Given the description of an element on the screen output the (x, y) to click on. 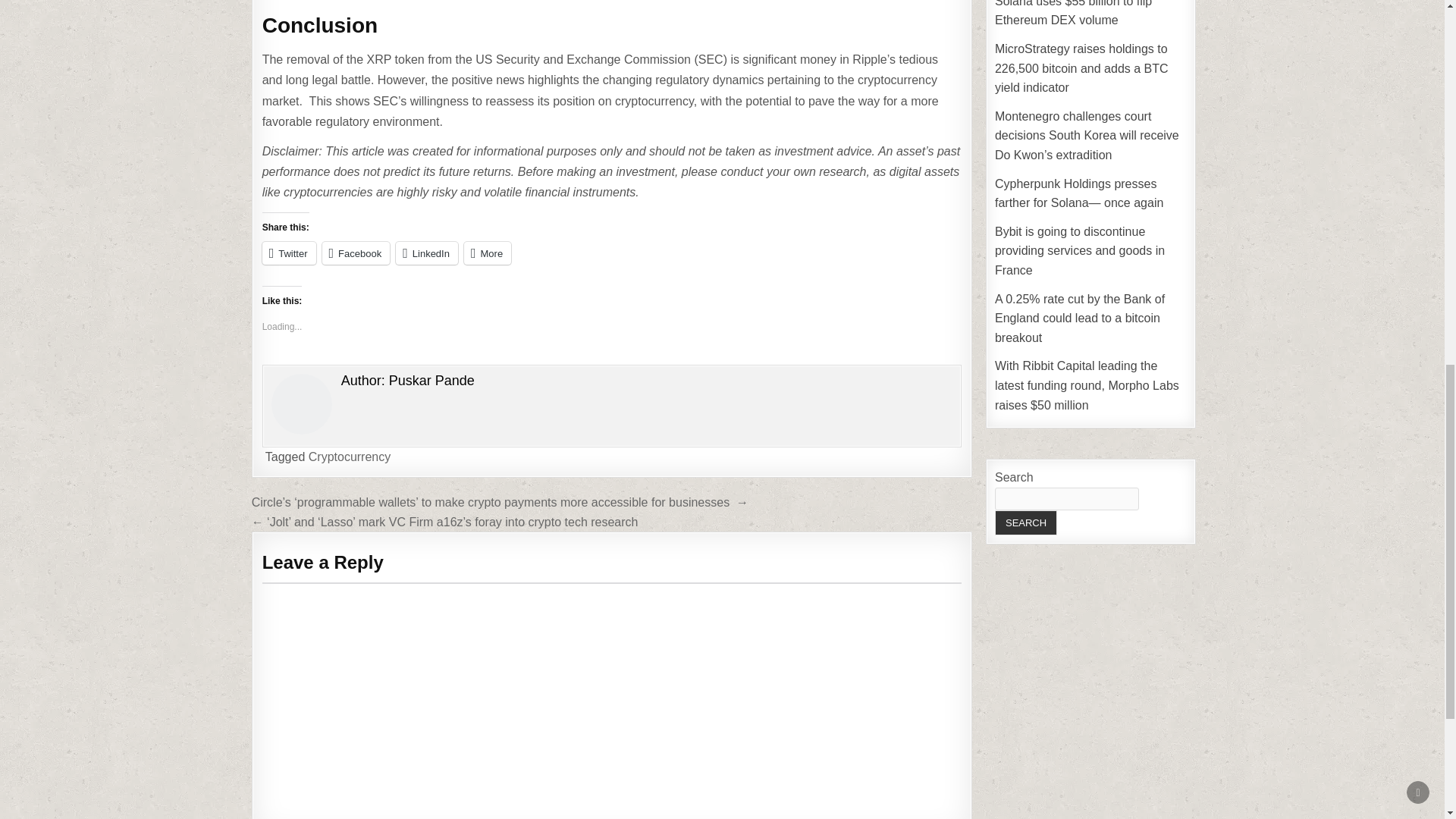
Puskar Pande (431, 380)
LinkedIn (427, 252)
Click to share on LinkedIn (427, 252)
Facebook (355, 252)
Click to share on Twitter (288, 252)
Click to share on Facebook (355, 252)
Cryptocurrency (349, 456)
More (487, 252)
Twitter (288, 252)
